Given the description of an element on the screen output the (x, y) to click on. 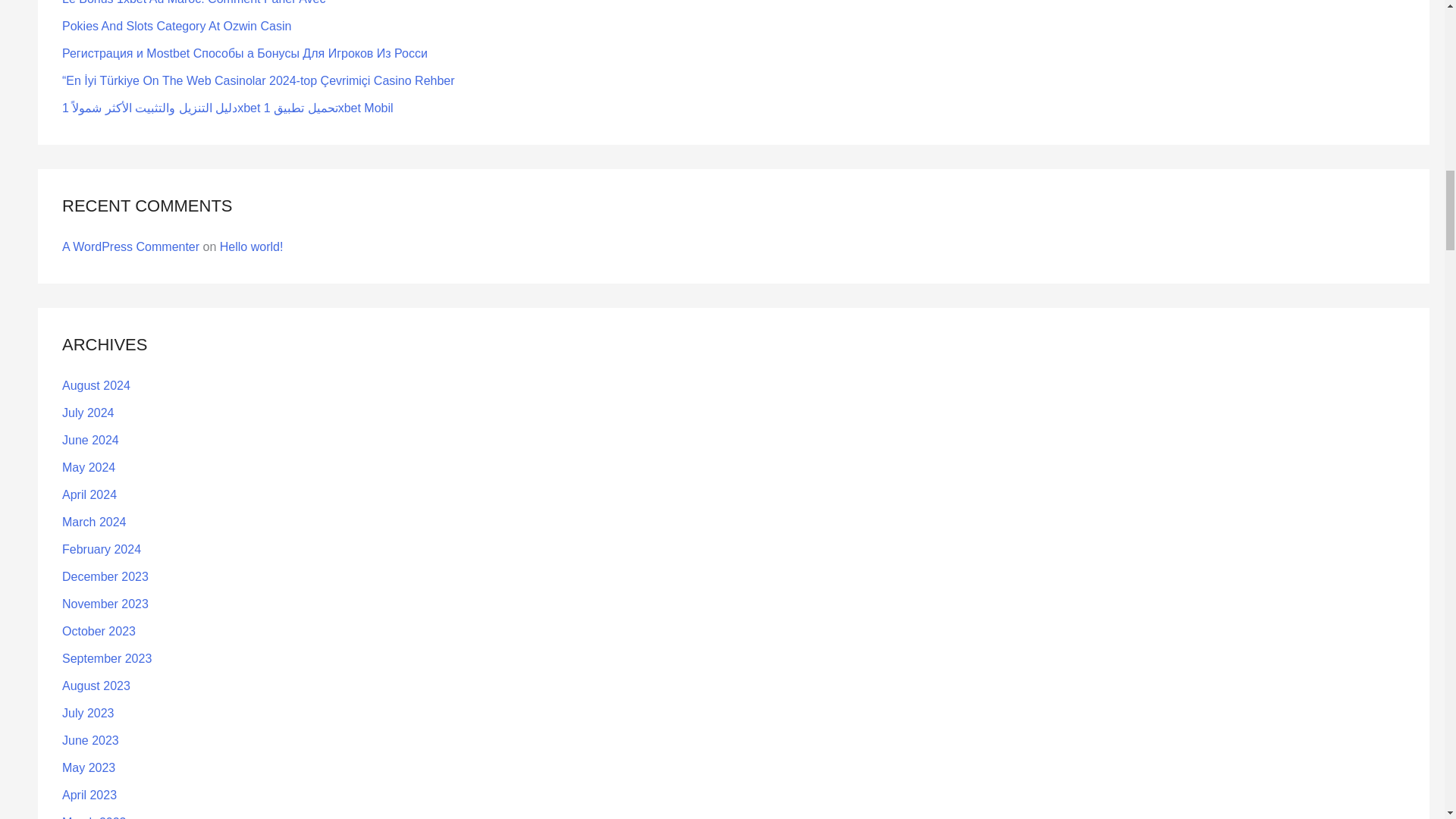
May 2024 (88, 467)
December 2023 (105, 576)
Pokies And Slots Category At Ozwin Casin (176, 25)
April 2024 (89, 494)
Le Bonus 1xbet Au Maroc: Comment Parier Avec (195, 2)
July 2024 (88, 412)
Hello world! (251, 246)
November 2023 (105, 603)
A WordPress Commenter (130, 246)
February 2024 (101, 549)
